Given the description of an element on the screen output the (x, y) to click on. 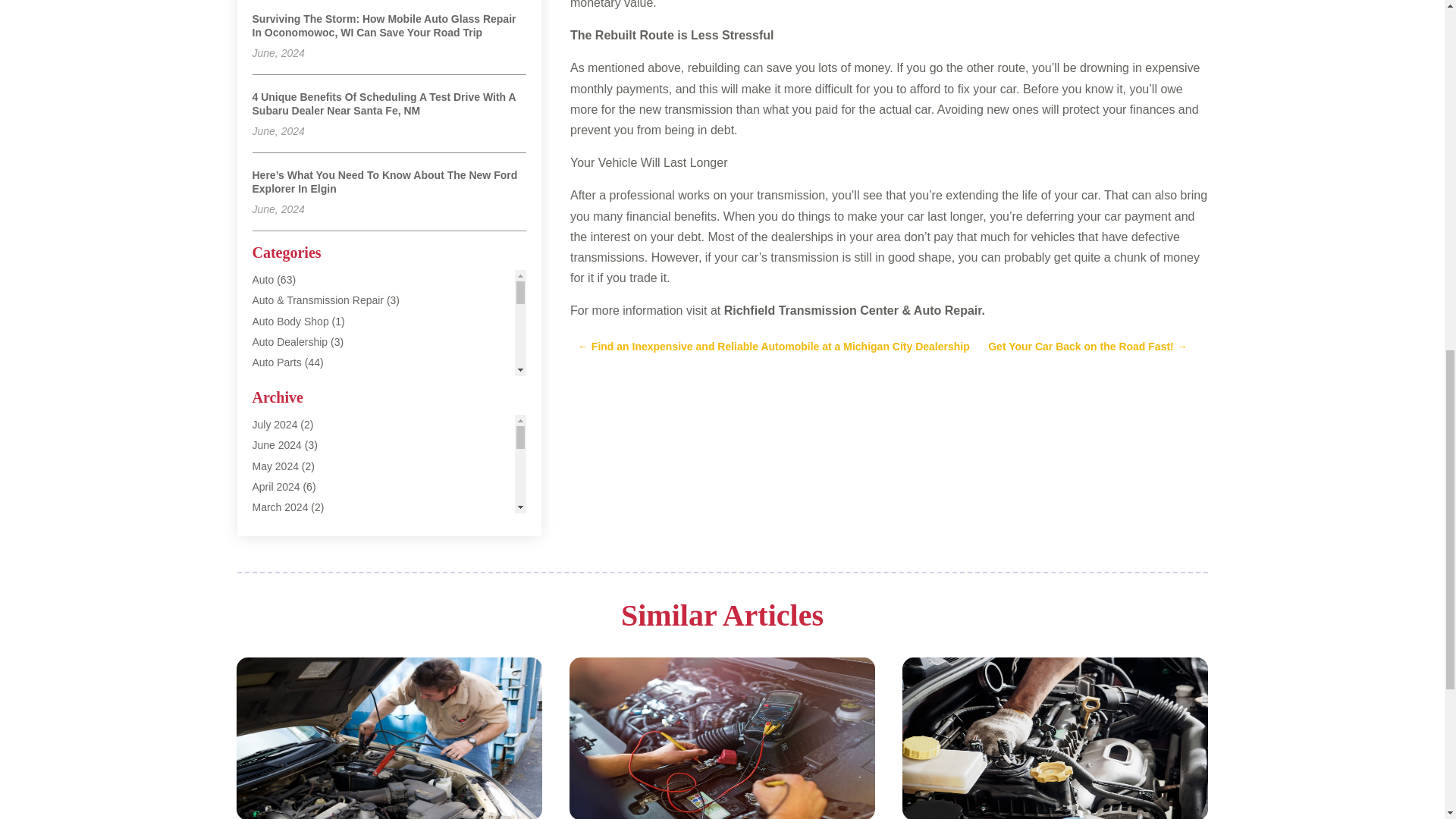
Auto Body Shop (290, 321)
Auto (262, 279)
Car Restoration Service (308, 692)
Automobile (277, 444)
Car Dealership (286, 609)
Automotive Repair Shop (308, 526)
Auto Dealership (289, 341)
Car Dealer (276, 589)
Car Rental (276, 651)
Auto Repair (279, 382)
Automobile Maintenance (309, 465)
Automotive Industry (298, 506)
Business (273, 568)
Auto Parts (276, 362)
